Given the description of an element on the screen output the (x, y) to click on. 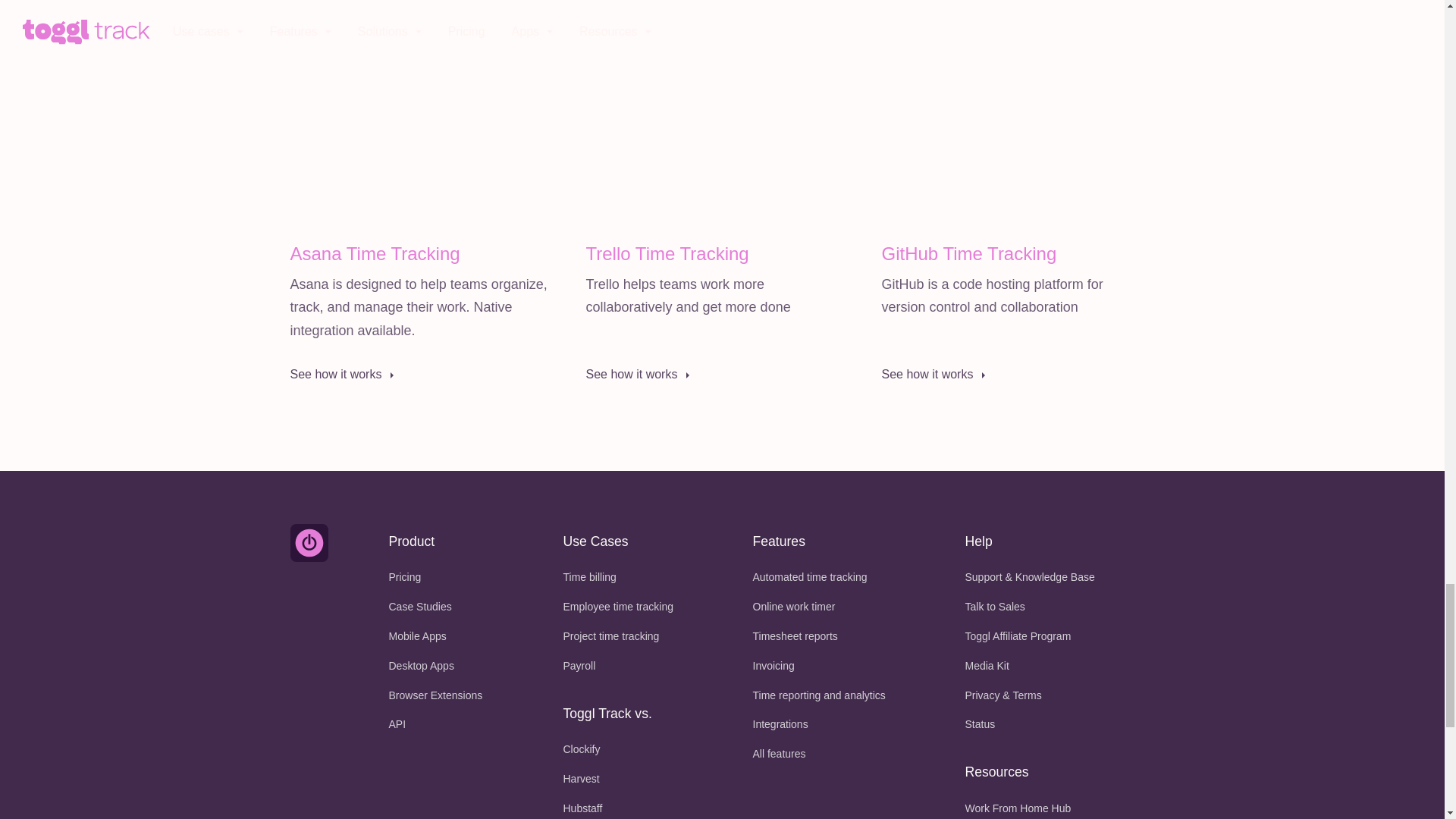
See how it works (418, 374)
See how it works (1009, 374)
See how it works (714, 374)
